Given the description of an element on the screen output the (x, y) to click on. 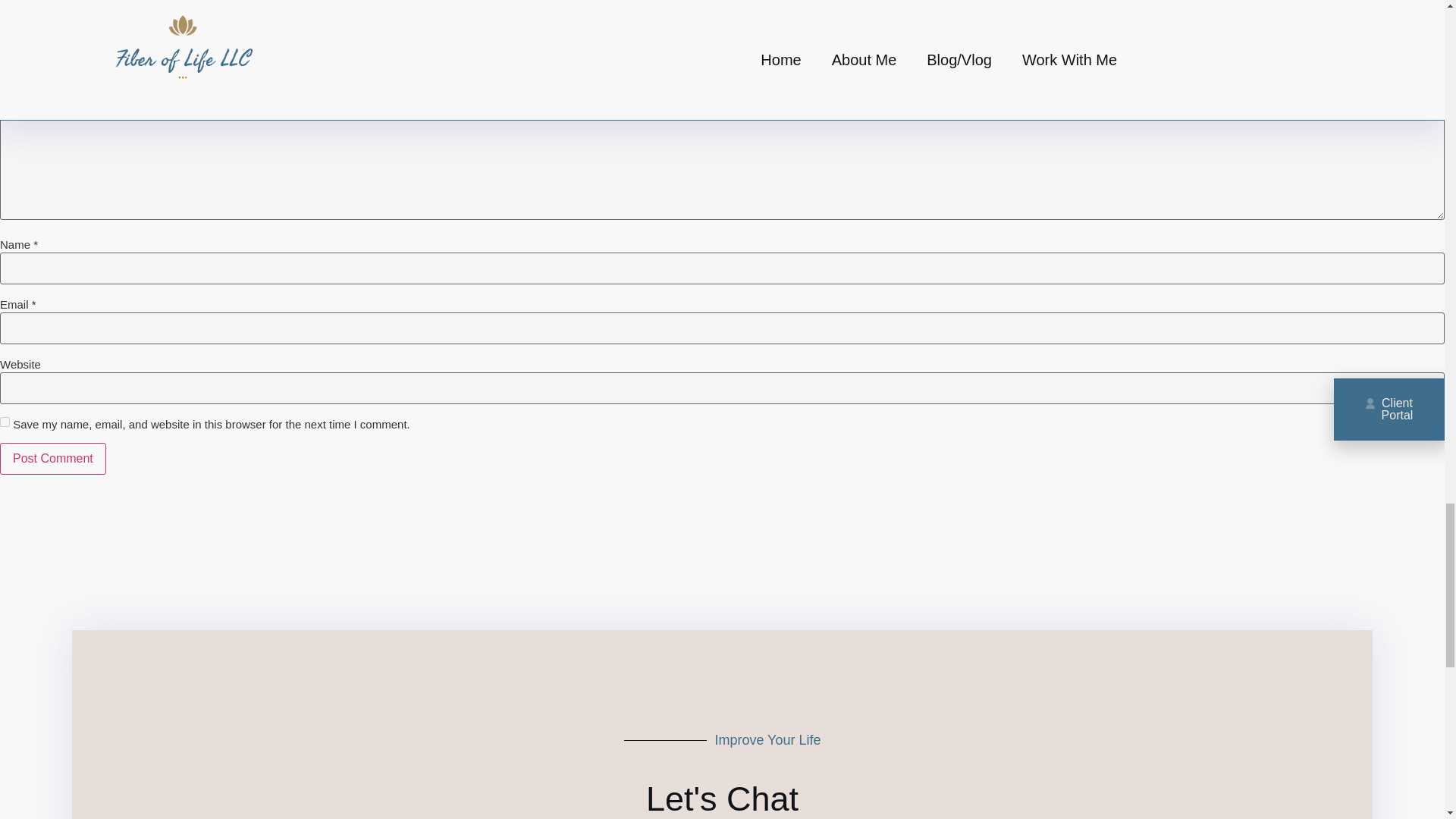
yes (5, 421)
Post Comment (53, 459)
Post Comment (53, 459)
